Given the description of an element on the screen output the (x, y) to click on. 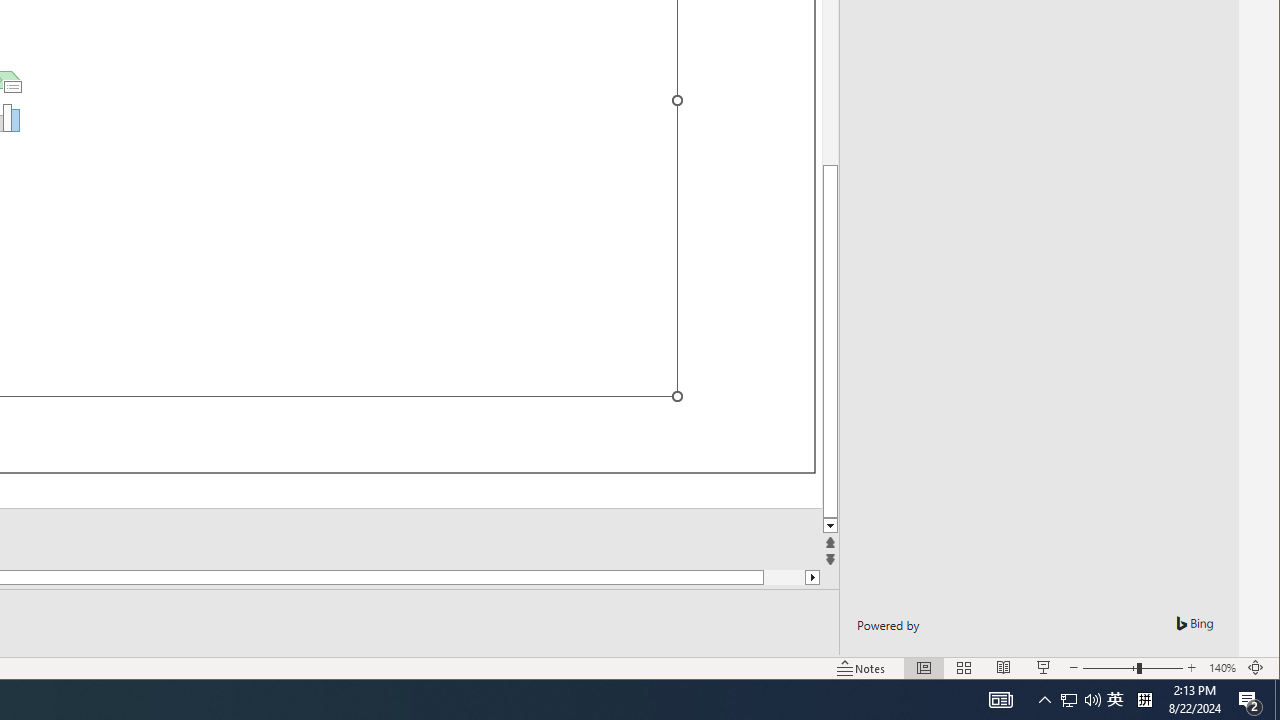
Zoom 140% (1222, 668)
